Given the description of an element on the screen output the (x, y) to click on. 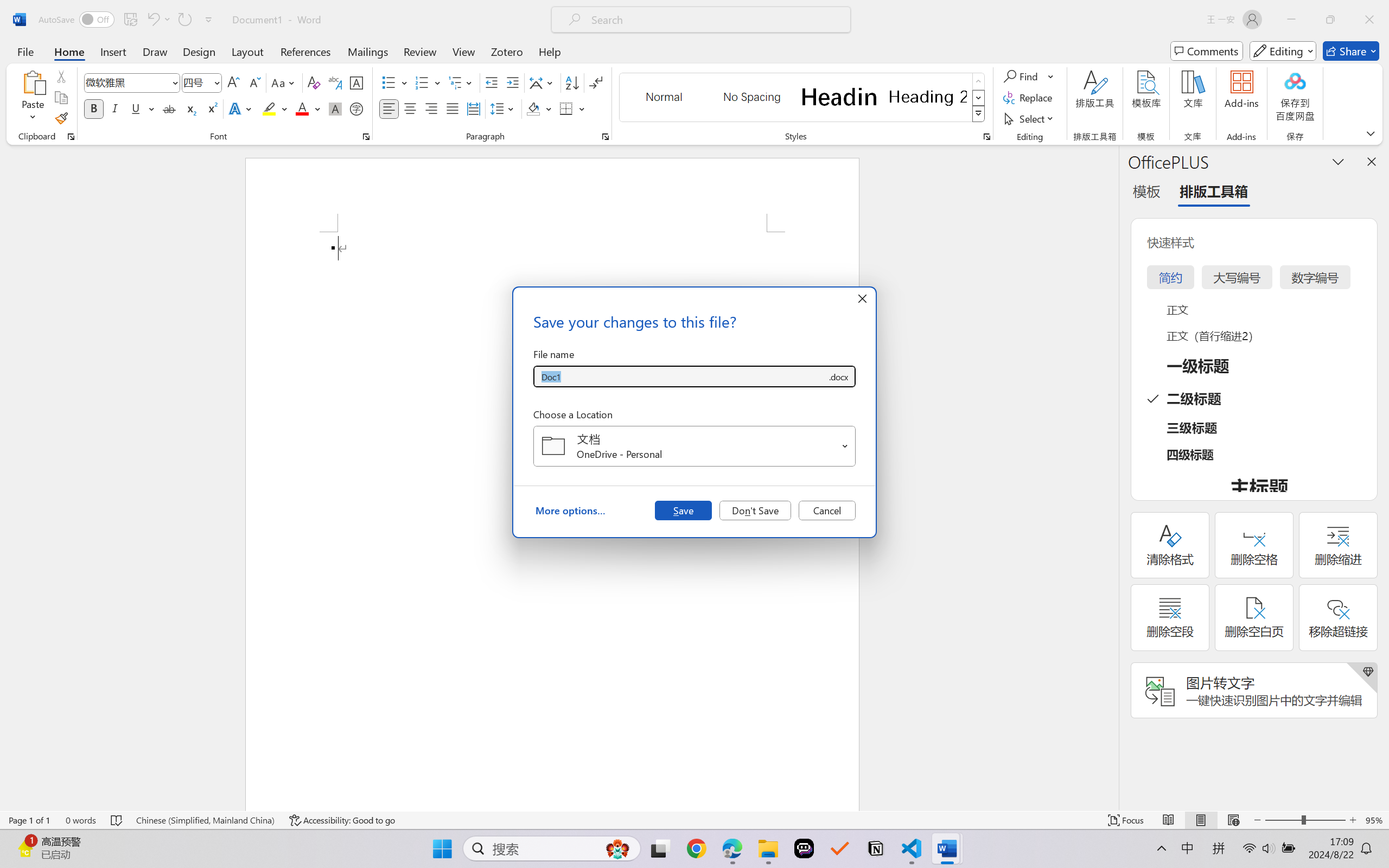
Font Color Red (302, 108)
